Given the description of an element on the screen output the (x, y) to click on. 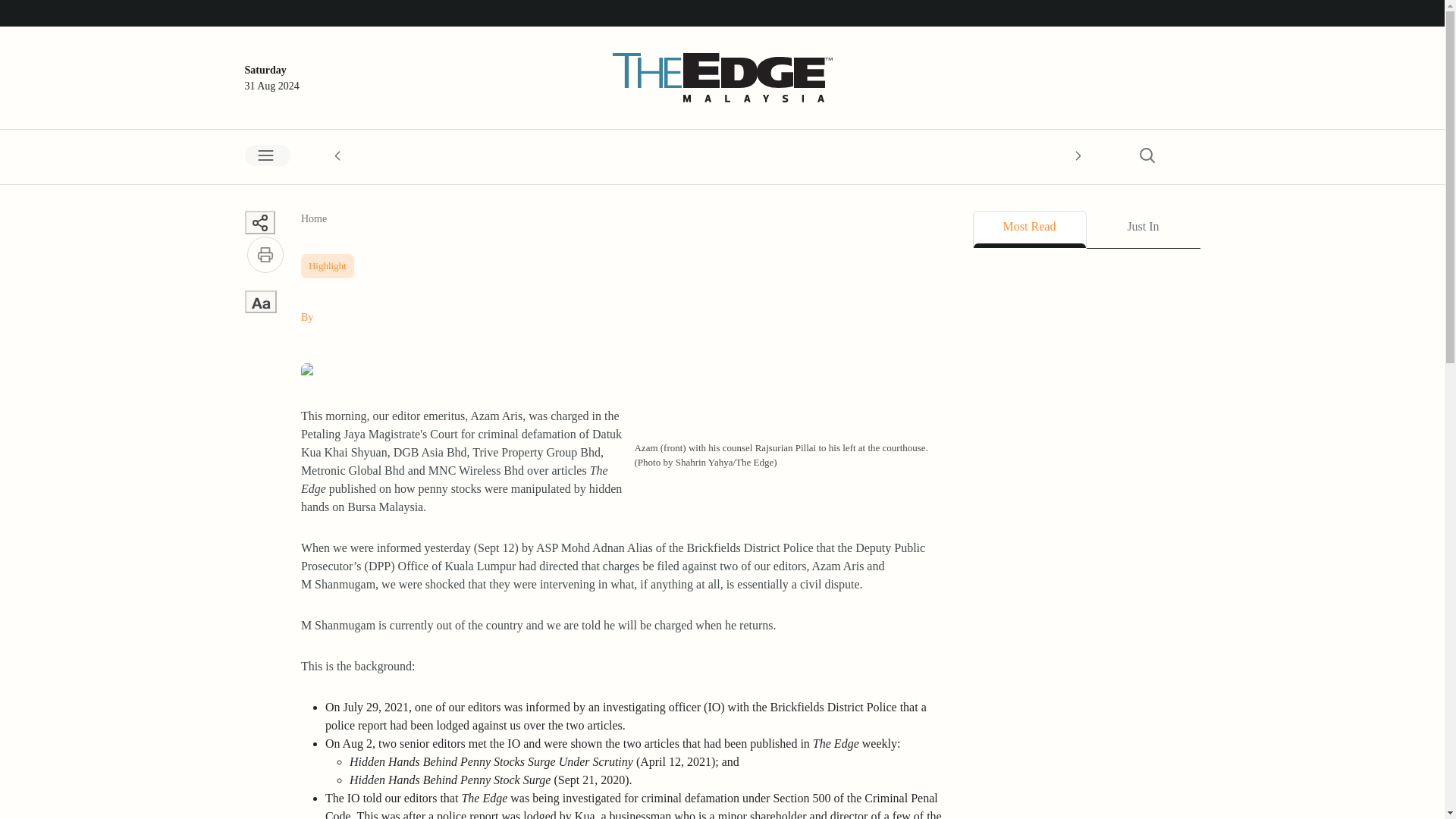
Home (313, 218)
Most Read (1029, 229)
Just In (1142, 229)
Highlight (327, 262)
